Given the description of an element on the screen output the (x, y) to click on. 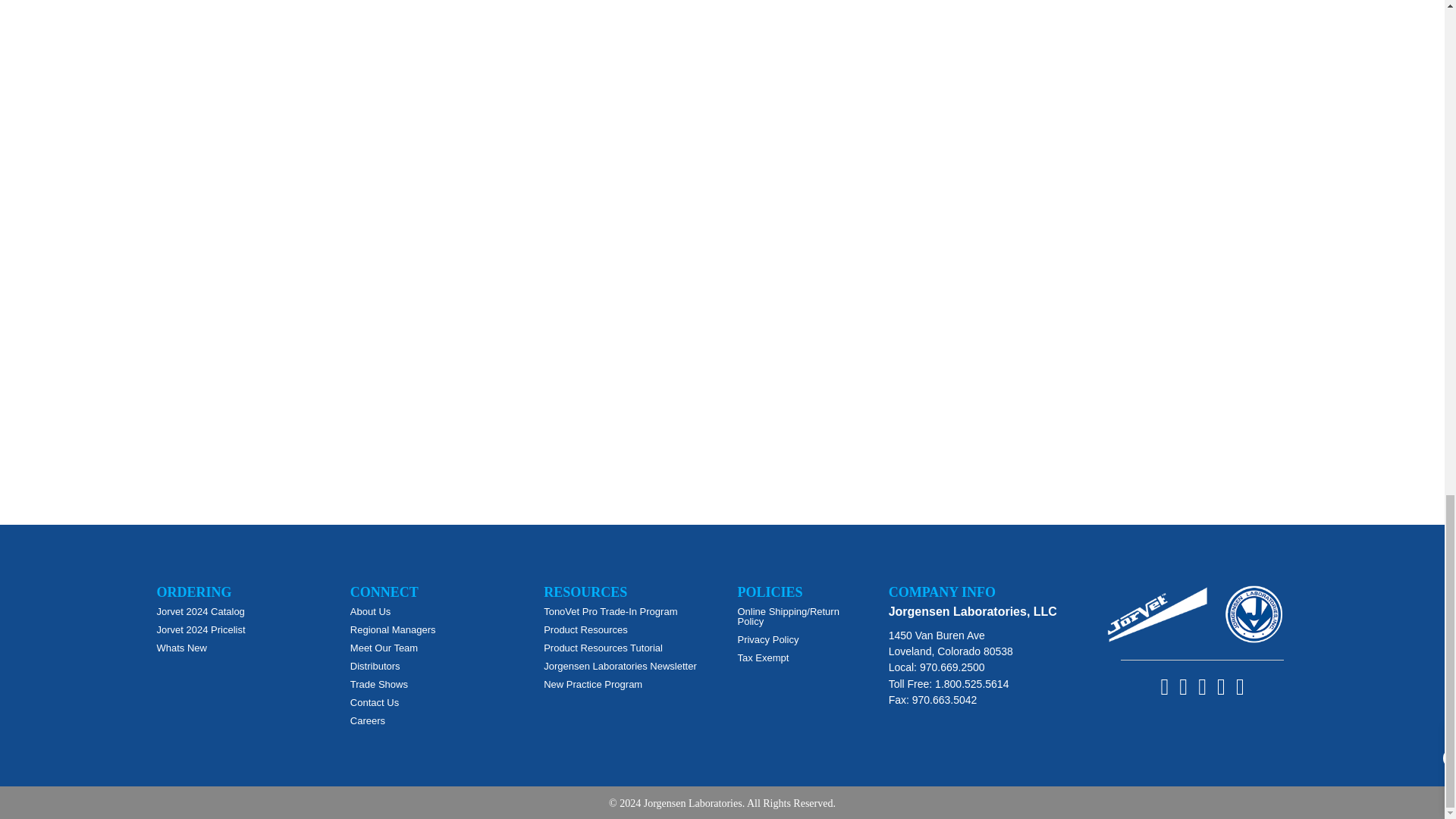
logo3 (1157, 614)
logo2 (1254, 614)
